Given the description of an element on the screen output the (x, y) to click on. 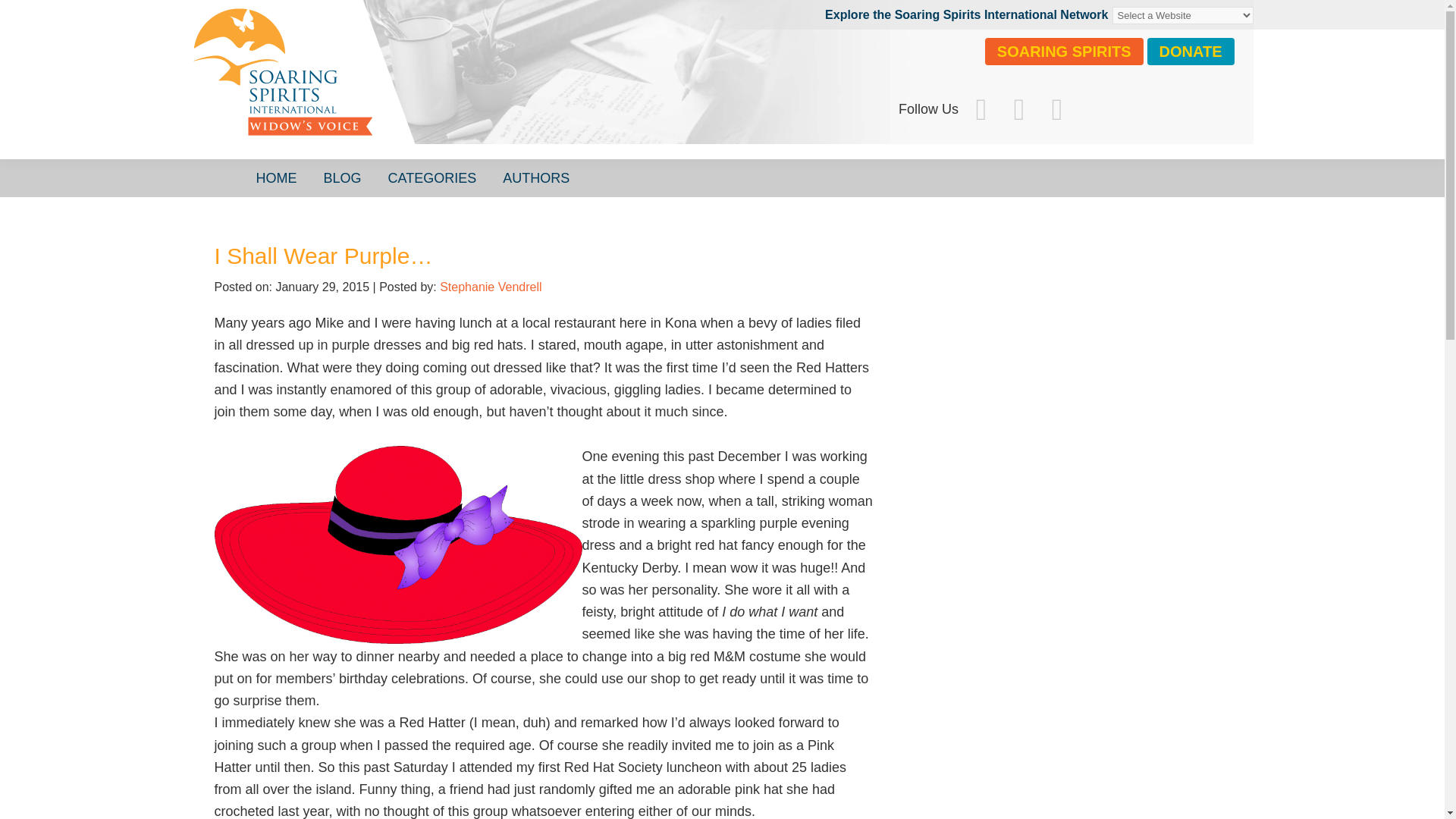
CATEGORIES (432, 177)
Facebook (981, 109)
Stephanie Vendrell (490, 286)
Homepage (418, 87)
HOME (275, 177)
DONATE (1190, 51)
SOARING SPIRITS (1063, 51)
Instagram (1019, 109)
BLOG (342, 177)
AUTHORS (536, 177)
YouTube (1056, 109)
Widow's Voice (418, 87)
